Given the description of an element on the screen output the (x, y) to click on. 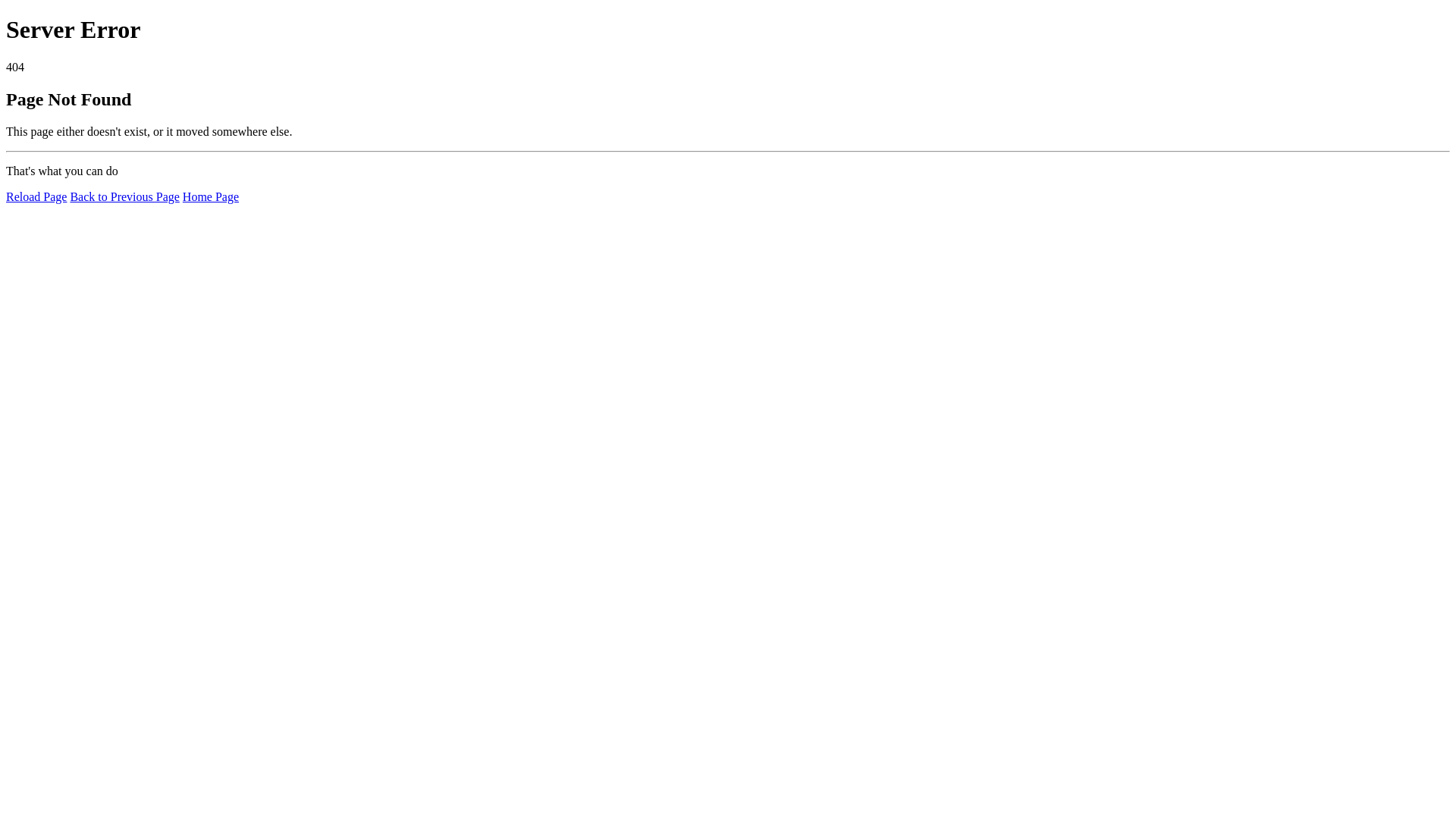
Home Page Element type: text (210, 196)
Back to Previous Page Element type: text (123, 196)
Reload Page Element type: text (36, 196)
